Given the description of an element on the screen output the (x, y) to click on. 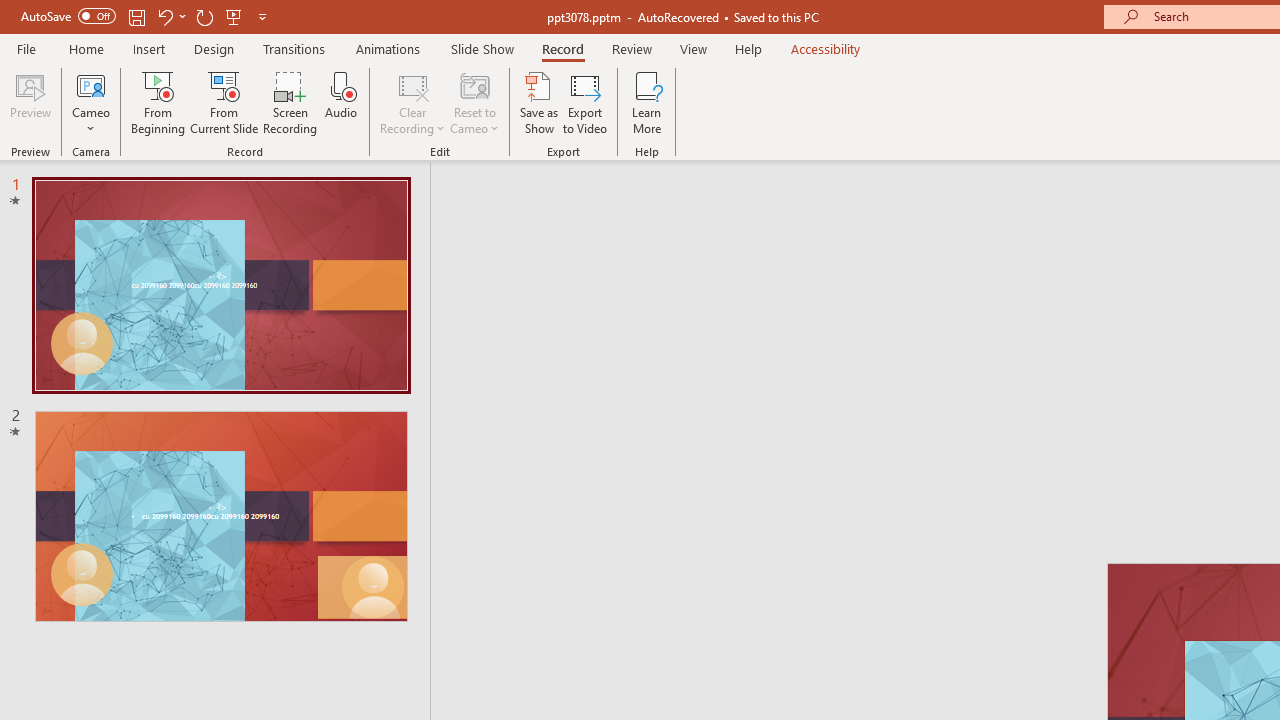
Clear Recording (412, 102)
Screen Recording (290, 102)
